Given the description of an element on the screen output the (x, y) to click on. 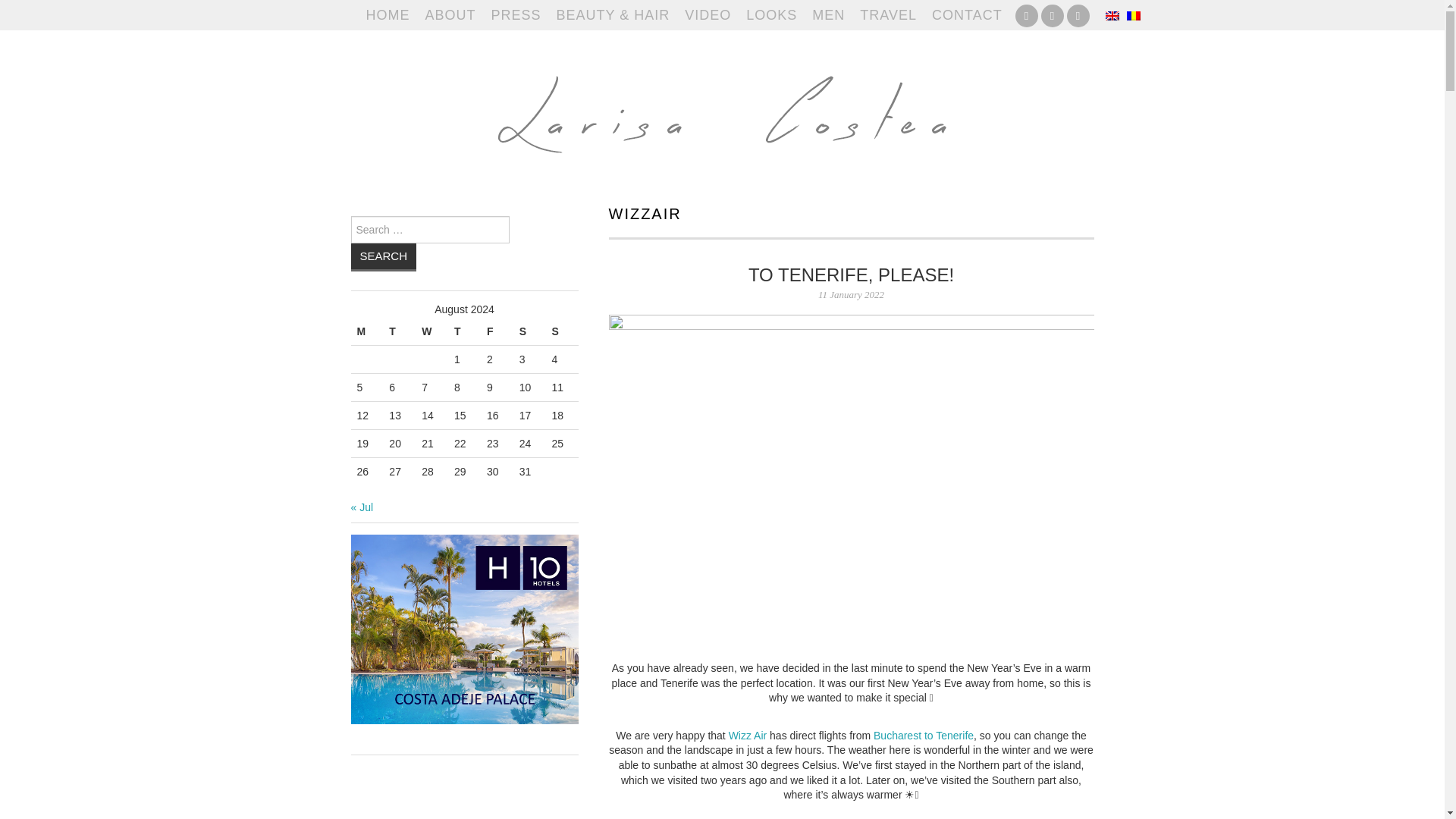
TO TENERIFE, PLEASE! (850, 274)
PRESS (515, 15)
Thursday (464, 331)
Tuesday (398, 331)
YouTube (1051, 15)
LOOKS (771, 15)
Search for: (429, 229)
Search (383, 257)
CONTACT (967, 15)
Wizz Air (748, 735)
Search (383, 257)
Friday (496, 331)
Facebook (1026, 15)
Bucharest to Tenerife (923, 735)
MEN (828, 15)
